Given the description of an element on the screen output the (x, y) to click on. 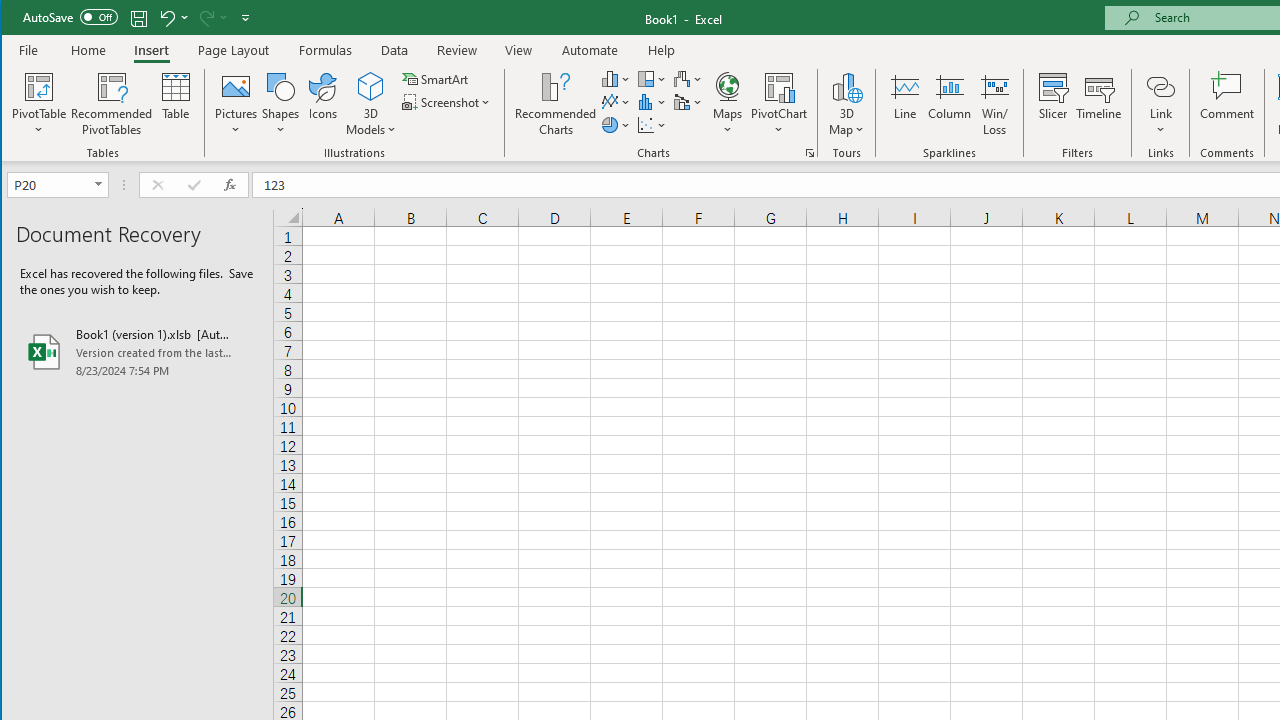
Line (904, 104)
Link (1160, 104)
Win/Loss (995, 104)
Timeline (1098, 104)
Help (661, 50)
3D Models (371, 86)
Maps (727, 104)
Comment (1227, 104)
SmartArt... (436, 78)
Insert Combo Chart (688, 101)
Insert Scatter (X, Y) or Bubble Chart (652, 124)
Open (99, 184)
Recommended Charts (809, 152)
Save (139, 17)
